Given the description of an element on the screen output the (x, y) to click on. 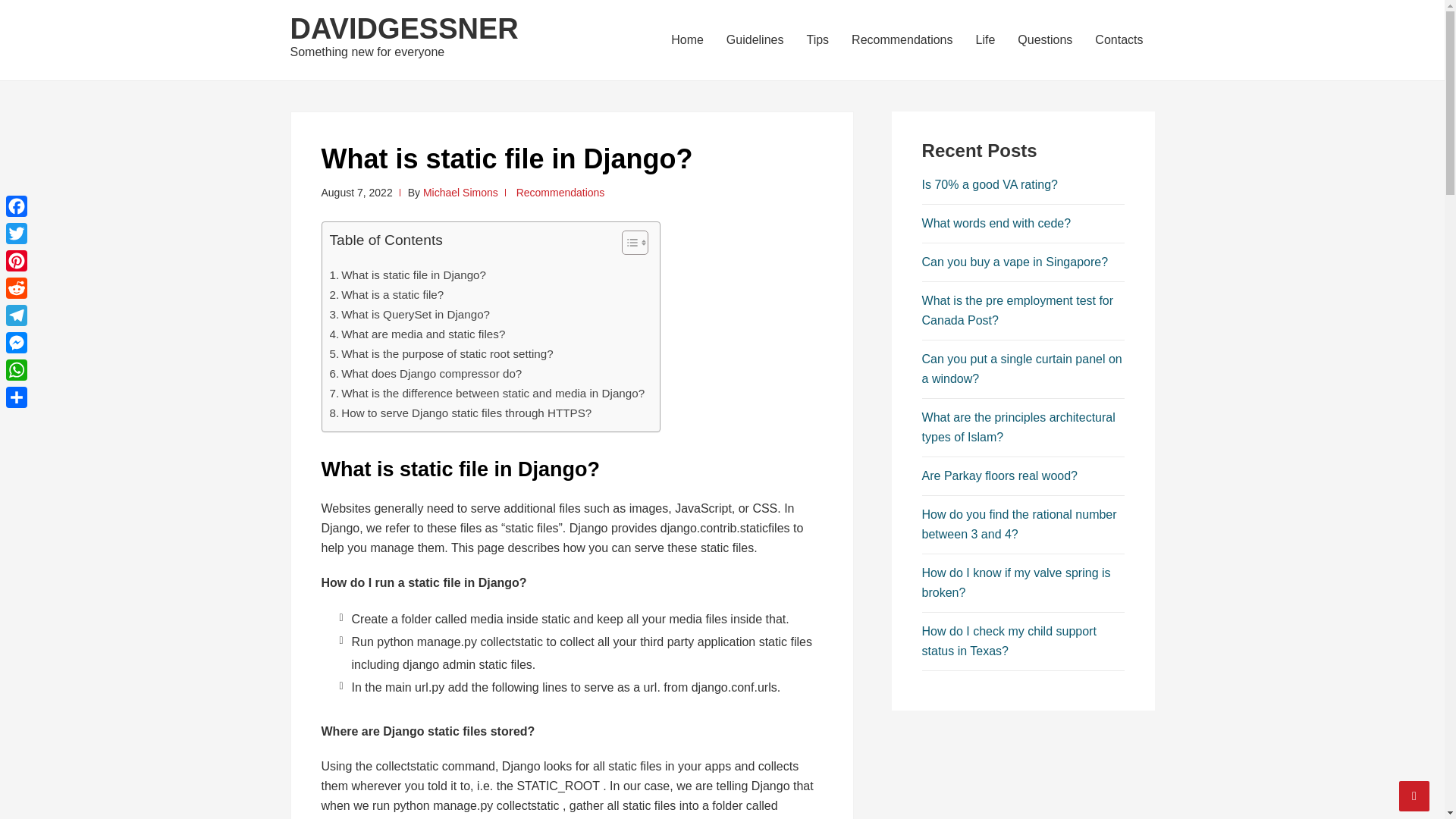
What is QuerySet in Django? (409, 314)
What are media and static files? (417, 334)
How to serve Django static files through HTTPS? (460, 413)
How do I know if my valve spring is broken? (1015, 582)
What is the difference between static and media in Django? (487, 393)
DAVIDGESSNER (403, 29)
Are Parkay floors real wood? (999, 475)
Recommendations (560, 192)
View all posts by Michael Simons (460, 192)
Questions (1044, 39)
What is static file in Django? (407, 275)
What does Django compressor do? (425, 373)
What are the principles architectural types of Islam? (1018, 427)
What is the purpose of static root setting? (441, 353)
Life (985, 39)
